Given the description of an element on the screen output the (x, y) to click on. 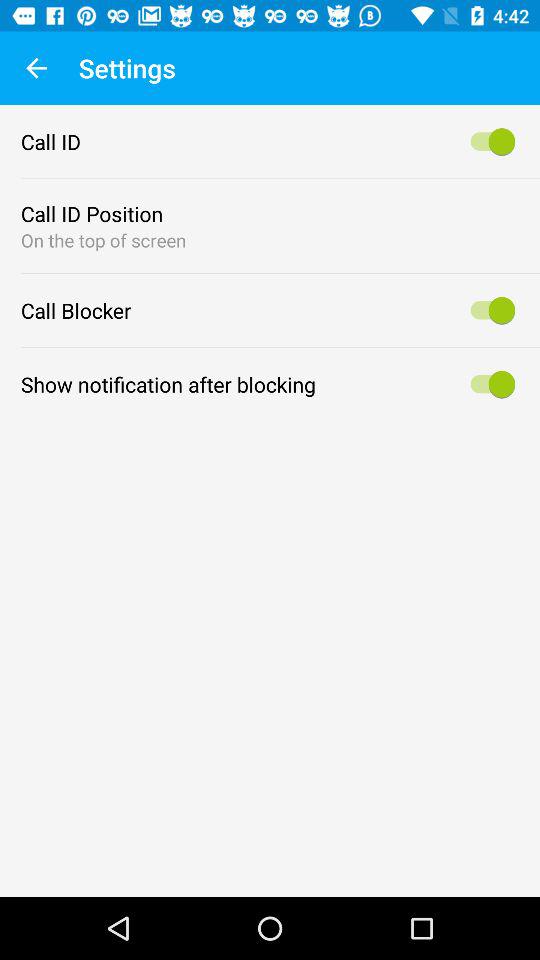
toggle call id on or off (489, 141)
